Given the description of an element on the screen output the (x, y) to click on. 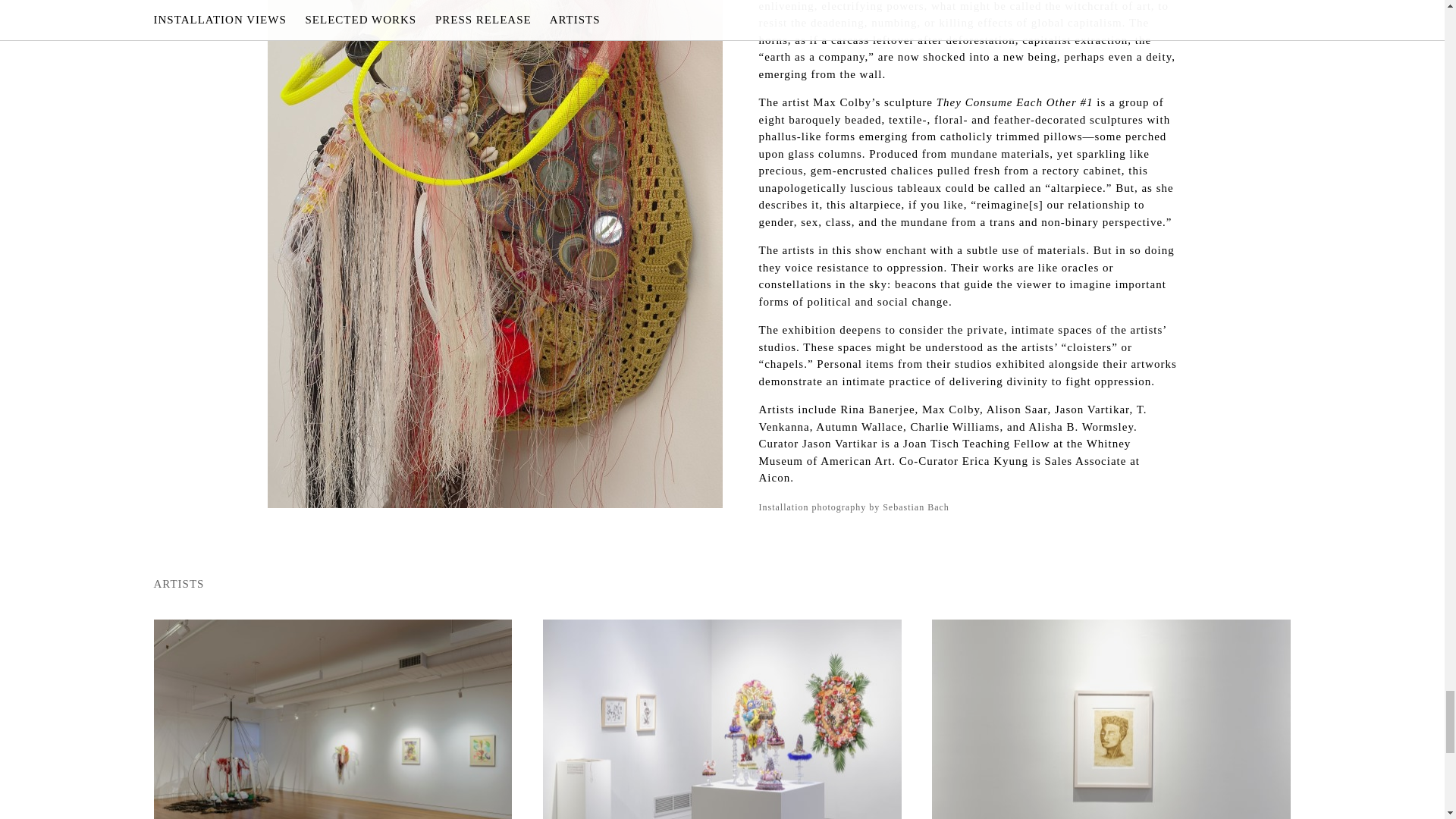
RINA BANERJEE (332, 719)
MAX COLBY (722, 719)
ALISON SAAR (1110, 719)
